Given the description of an element on the screen output the (x, y) to click on. 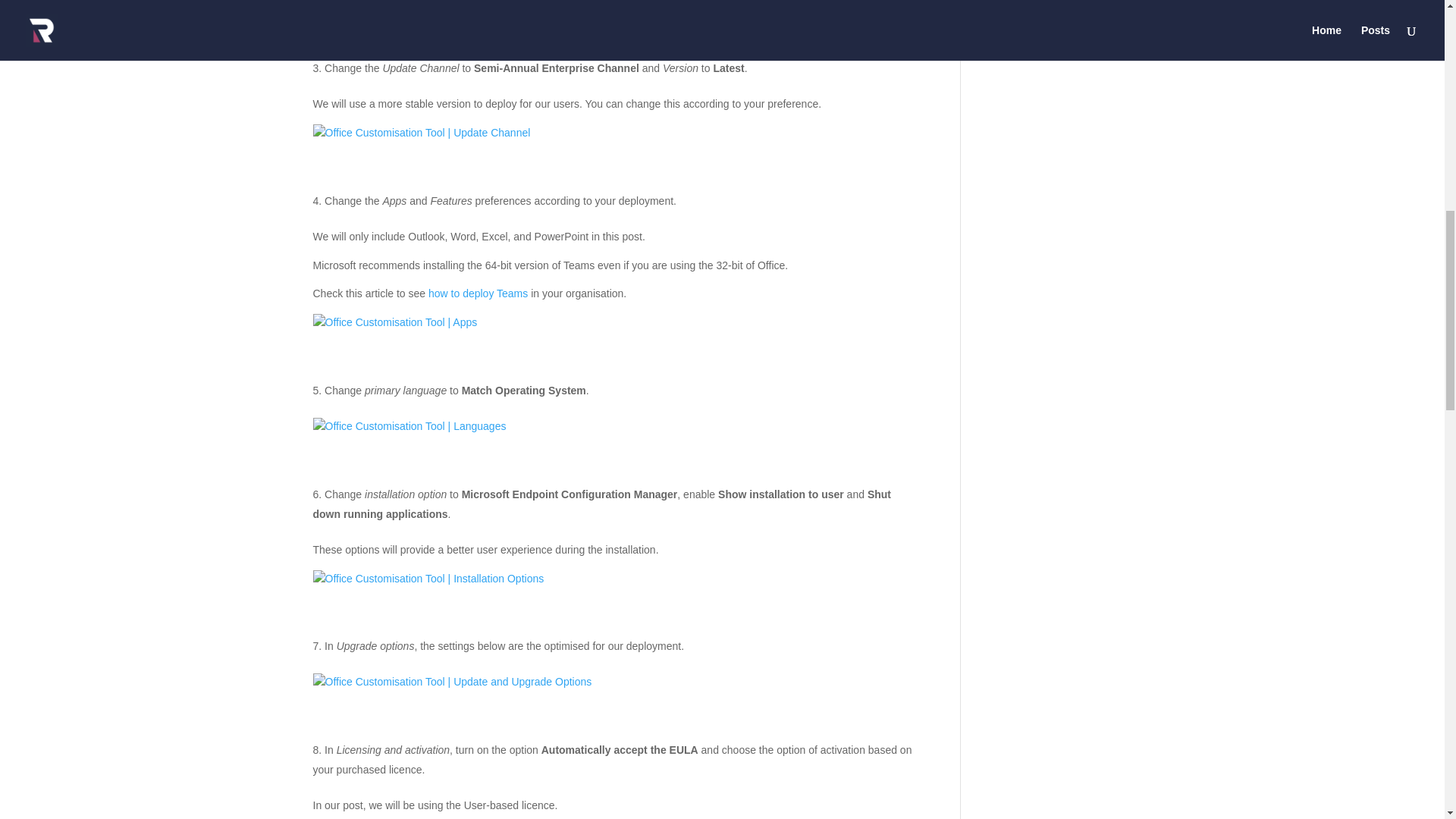
how to deploy Teams (477, 293)
